Given the description of an element on the screen output the (x, y) to click on. 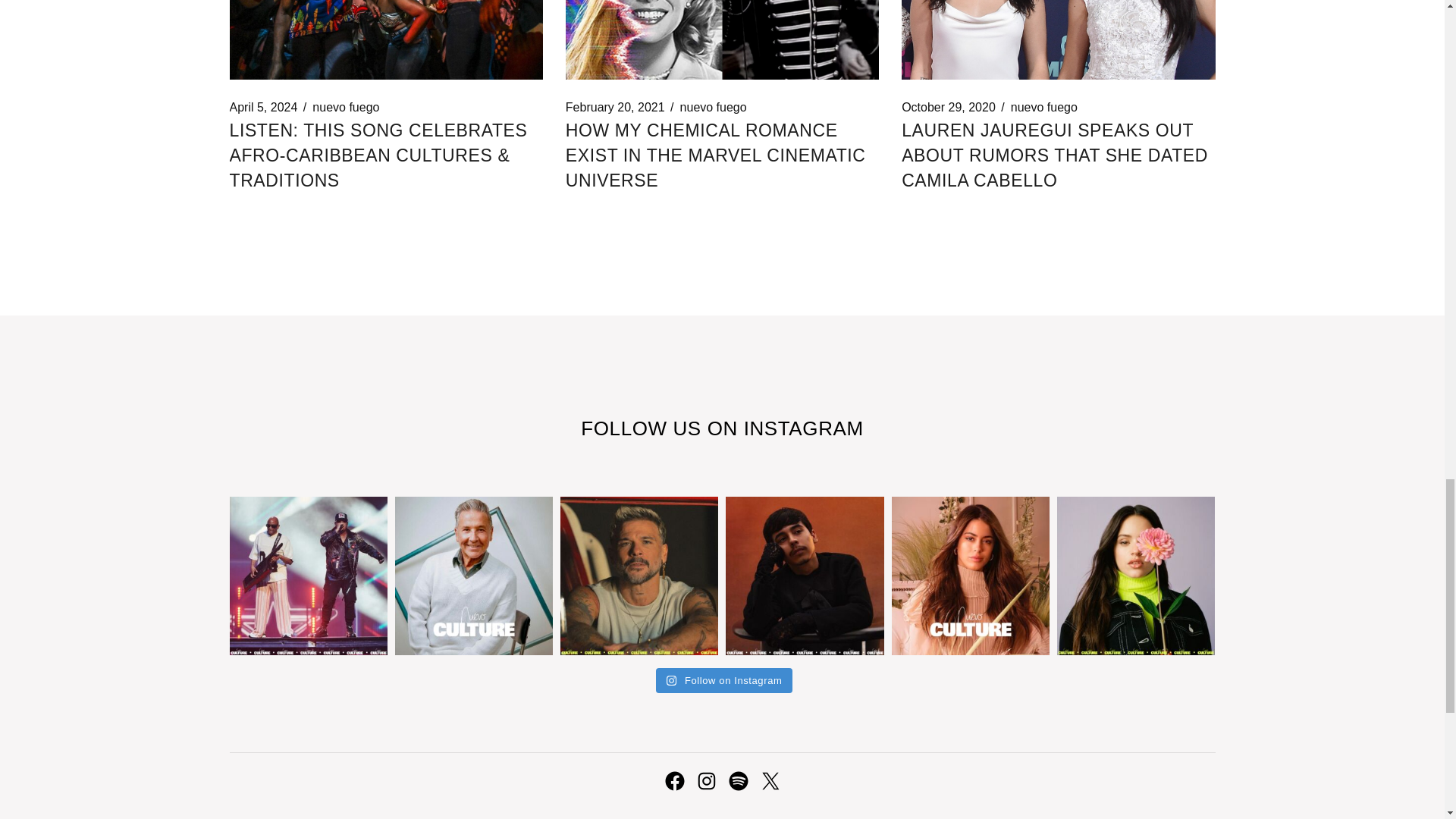
Follow on Instagram (724, 680)
February 20, 2021 (615, 107)
X (769, 780)
nuevo fuego (1043, 107)
FOLLOW US ON  (661, 427)
April 5, 2024 (262, 107)
Facebook (673, 780)
nuevo fuego (712, 107)
Instagram (705, 780)
Spotify (737, 780)
nuevo fuego (345, 107)
October 29, 2020 (948, 107)
